Given the description of an element on the screen output the (x, y) to click on. 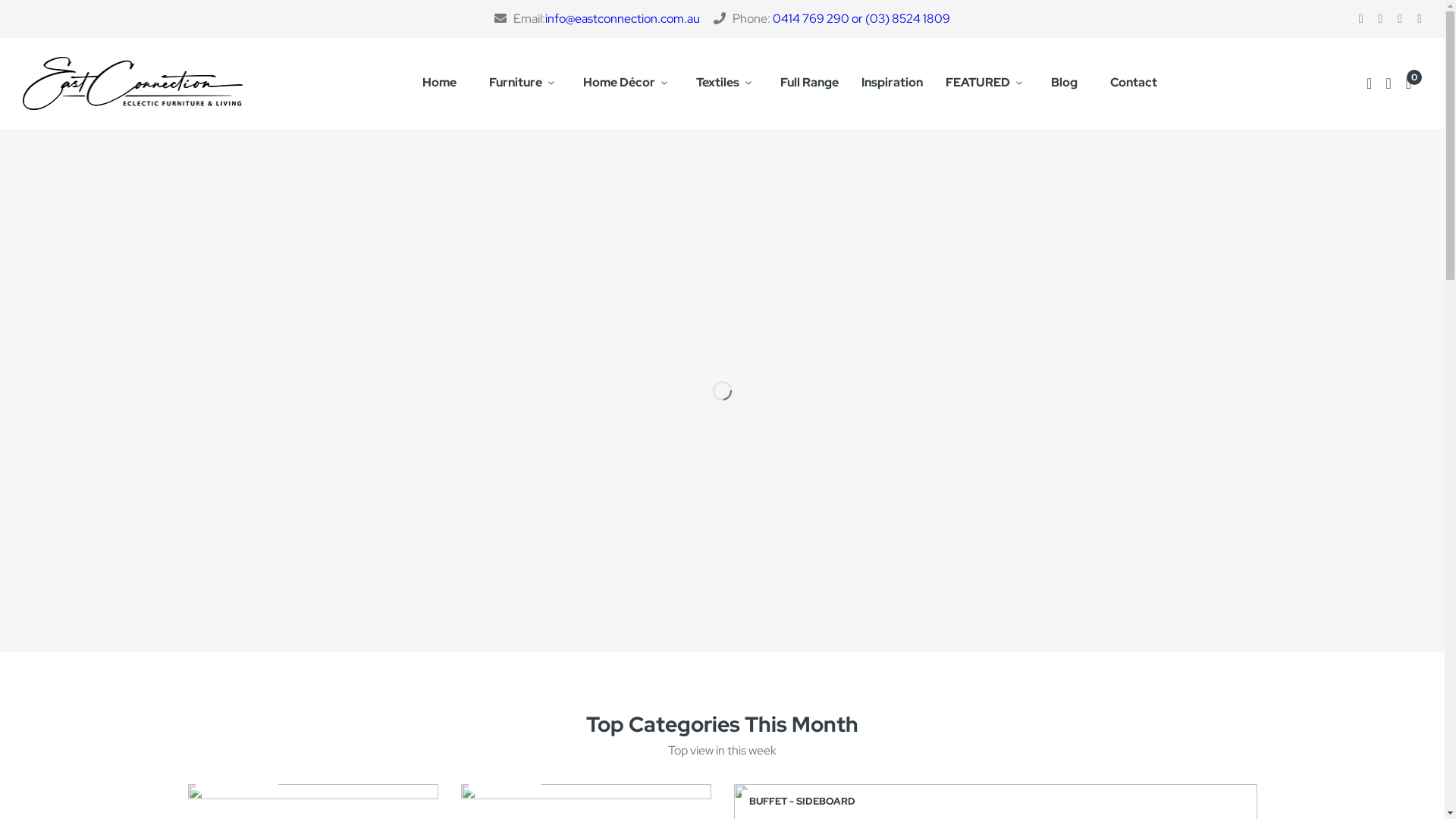
Blog Element type: text (1064, 83)
FEATURED Element type: text (986, 83)
Contact Element type: text (1133, 83)
Furniture Element type: text (524, 83)
My Cart
0 Element type: text (1413, 83)
info@eastconnection.com.au Element type: text (622, 18)
Inspiration Element type: text (891, 83)
0414 769 290 or (03) 8524 1809 Element type: text (861, 18)
STATEMENT Element type: text (504, 778)
BUFFET - SIDEBOARD Element type: text (801, 801)
Full Range Element type: text (809, 83)
Textiles Element type: text (726, 83)
Home Element type: text (439, 83)
